Given the description of an element on the screen output the (x, y) to click on. 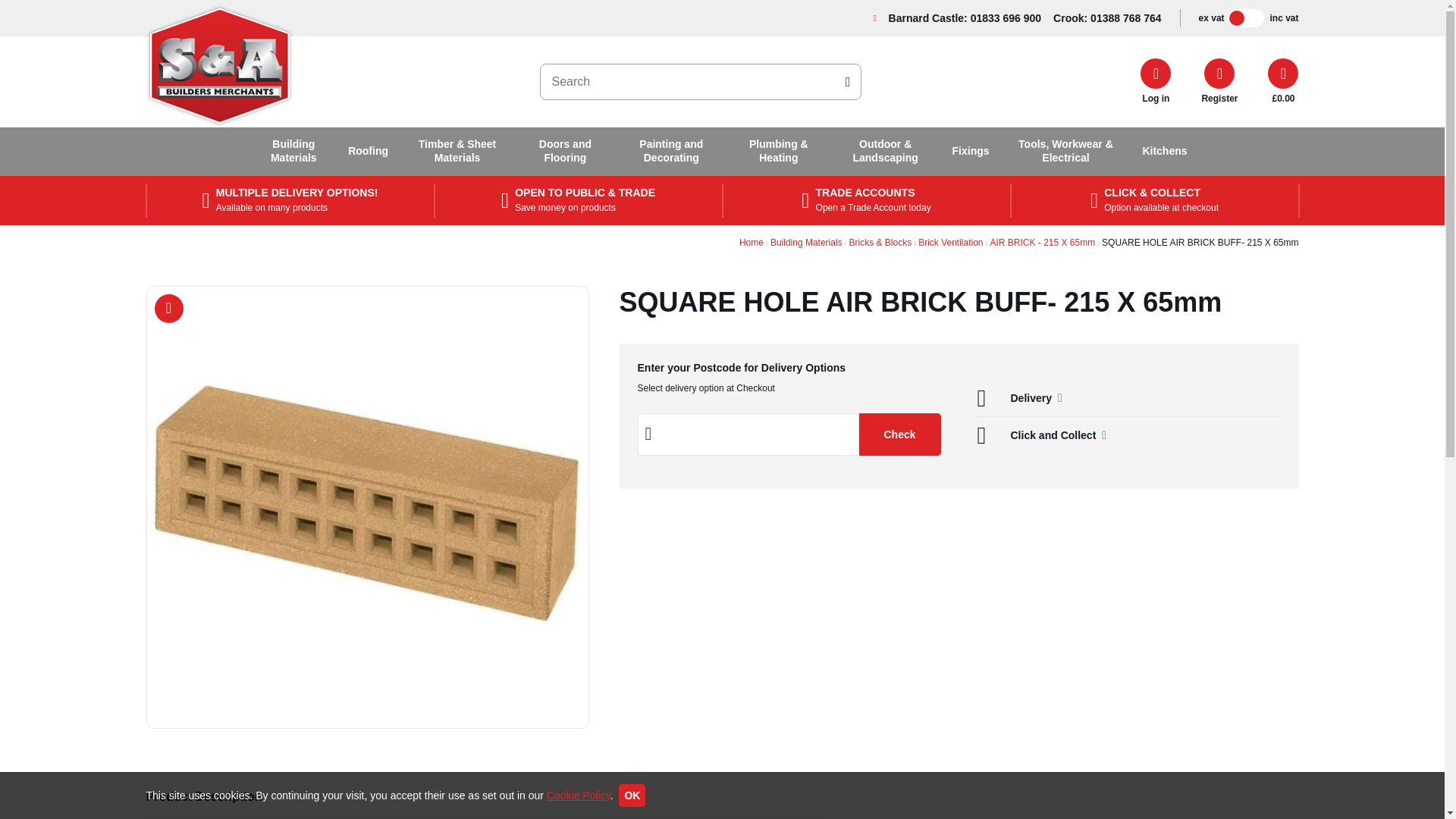
Building Materials (293, 151)
ex vat (1211, 19)
inc vat (1283, 19)
